Given the description of an element on the screen output the (x, y) to click on. 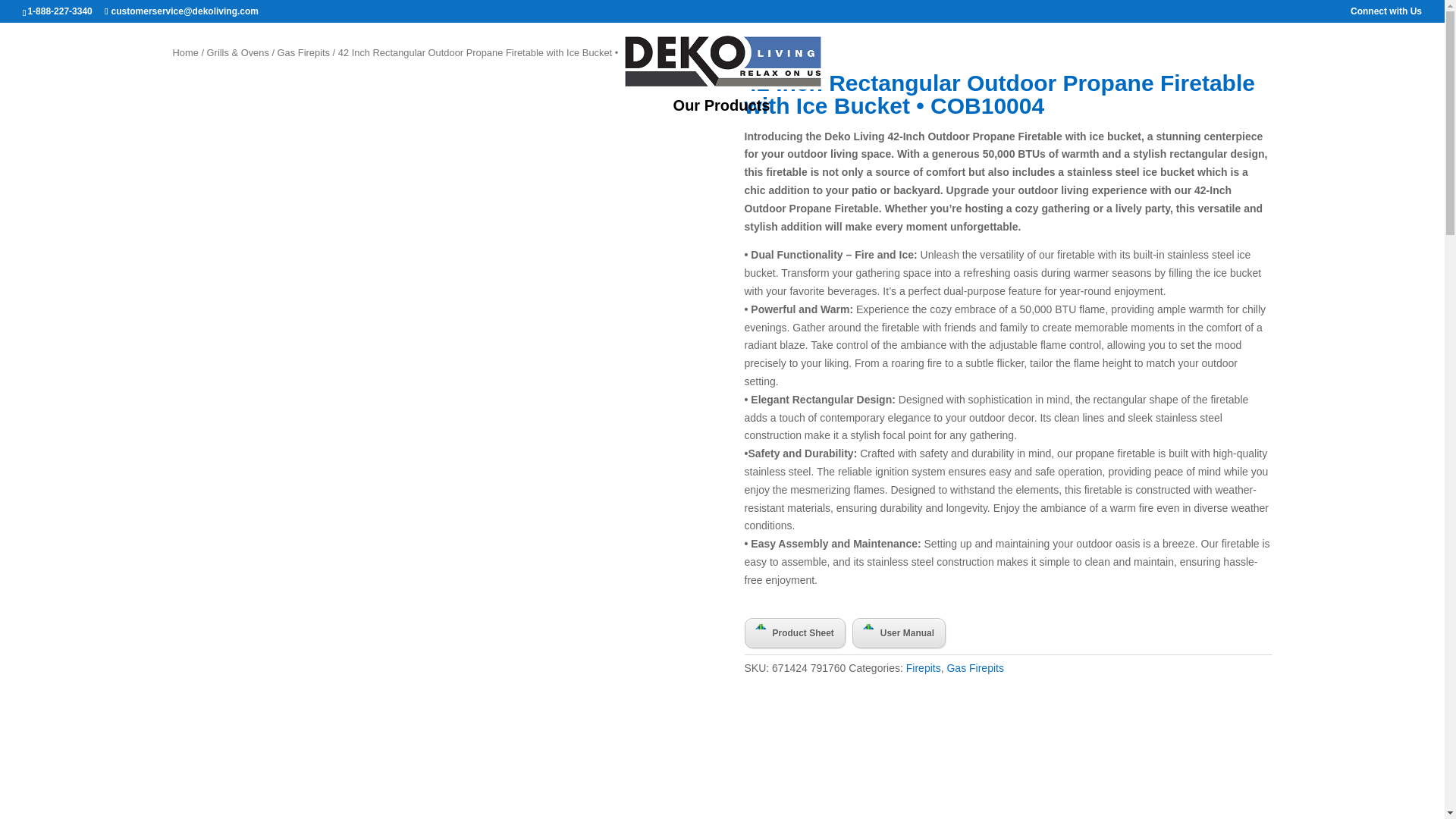
Our Products (721, 111)
Gas Firepits (304, 52)
Gas Firepits (974, 667)
Product Sheet (794, 633)
Home (185, 52)
User Manual (897, 633)
Firepits (922, 667)
Connect with Us (1386, 14)
